Given the description of an element on the screen output the (x, y) to click on. 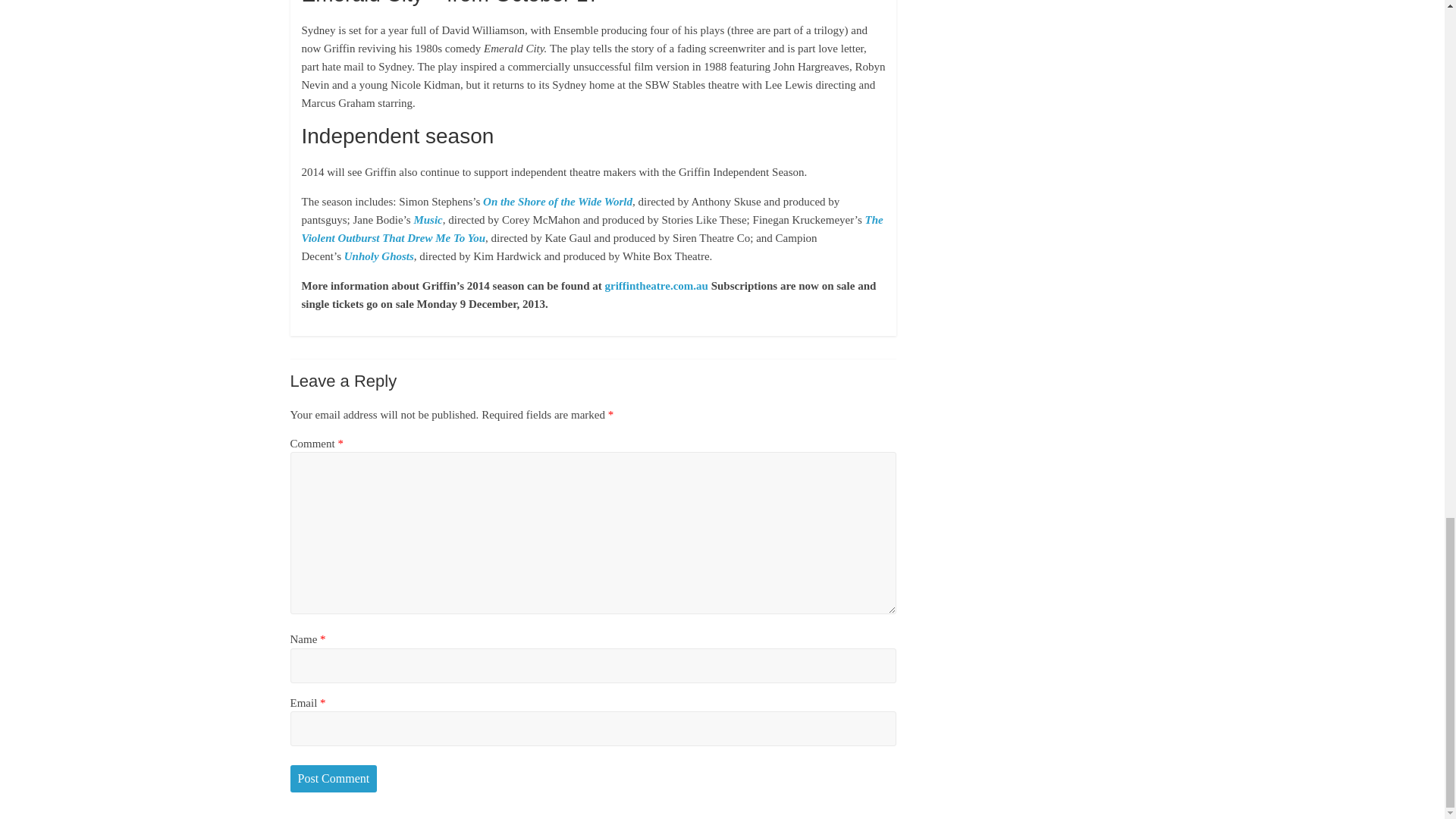
griffintheatre.com.au (656, 285)
Unholy Ghosts (378, 256)
Music (427, 219)
Post Comment (333, 778)
On the Shore of the Wide World (557, 201)
The Violent Outburst That Drew Me To You (592, 228)
